Given the description of an element on the screen output the (x, y) to click on. 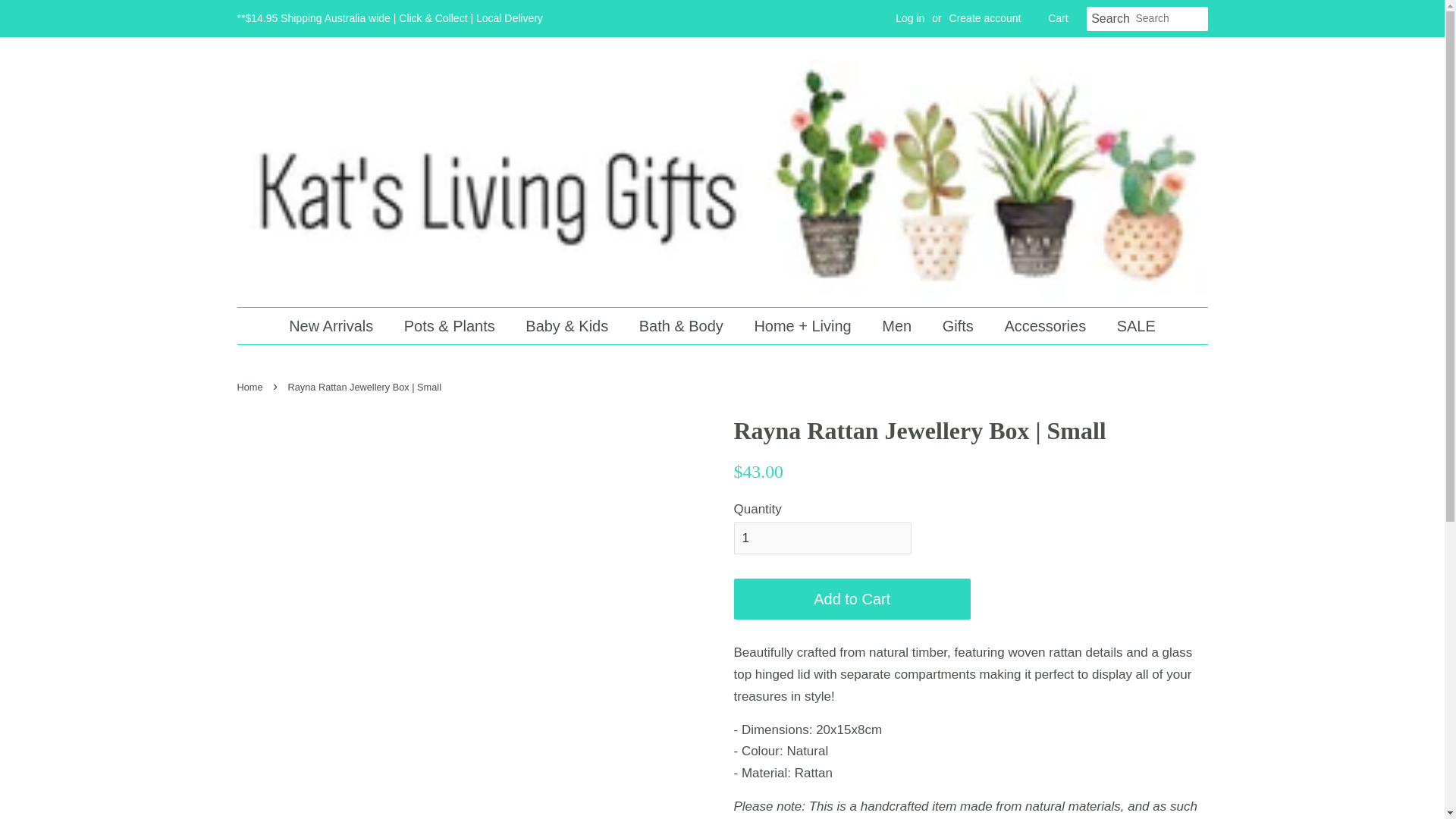
Back to the frontpage (250, 387)
Cart (1057, 18)
Create account (985, 18)
Search (1110, 18)
Log in (909, 18)
1 (822, 538)
